Given the description of an element on the screen output the (x, y) to click on. 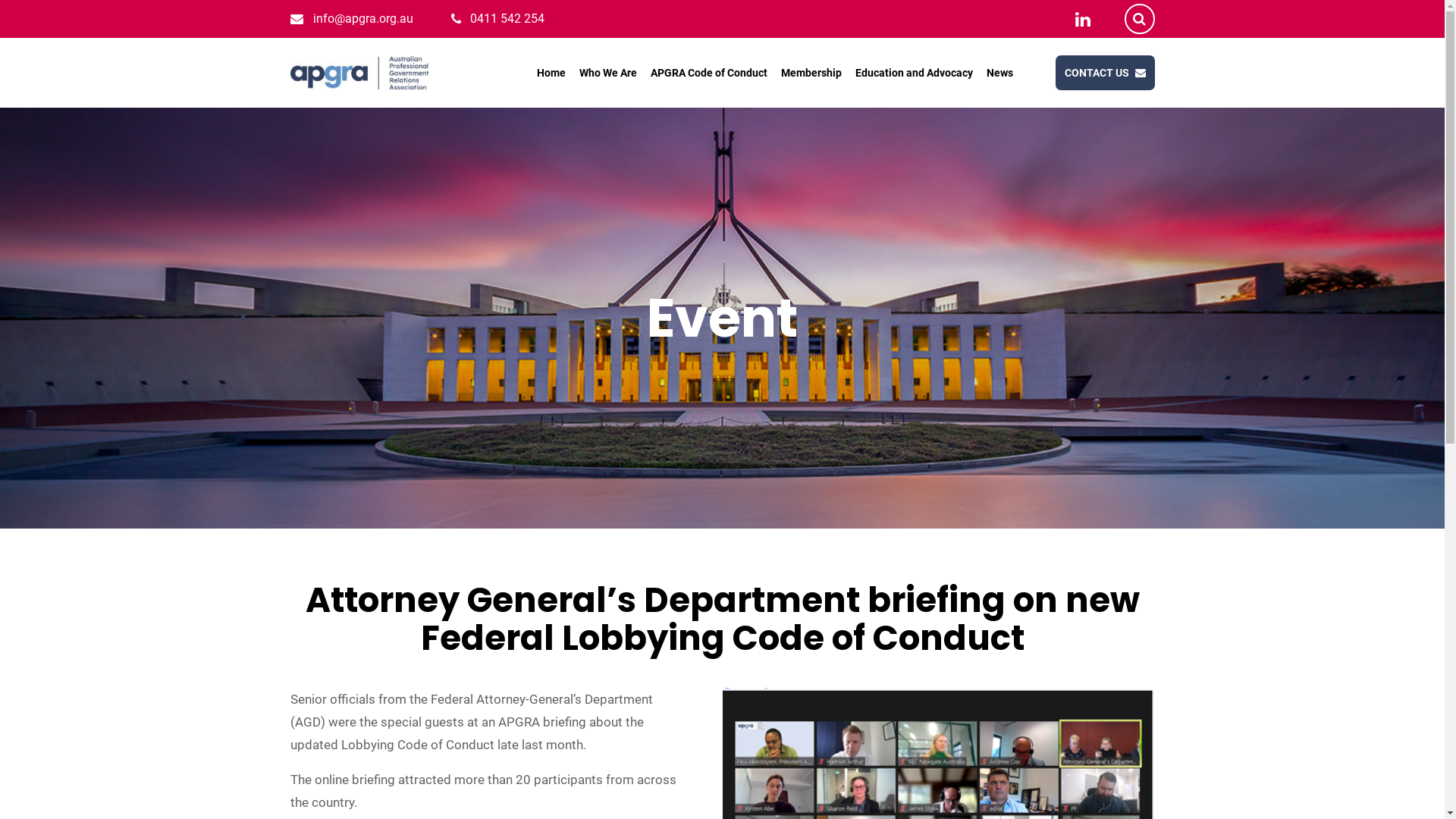
APGRA Code of Conduct Element type: text (708, 72)
0411 542 254 Element type: text (507, 18)
Education and Advocacy Element type: text (913, 72)
News Element type: text (998, 72)
Home Element type: text (550, 72)
Linkedin Element type: text (1083, 19)
Who We Are Element type: text (608, 72)
info@apgra.org.au Element type: text (362, 18)
Membership Element type: text (811, 72)
CONTACT US Element type: text (1104, 72)
